Given the description of an element on the screen output the (x, y) to click on. 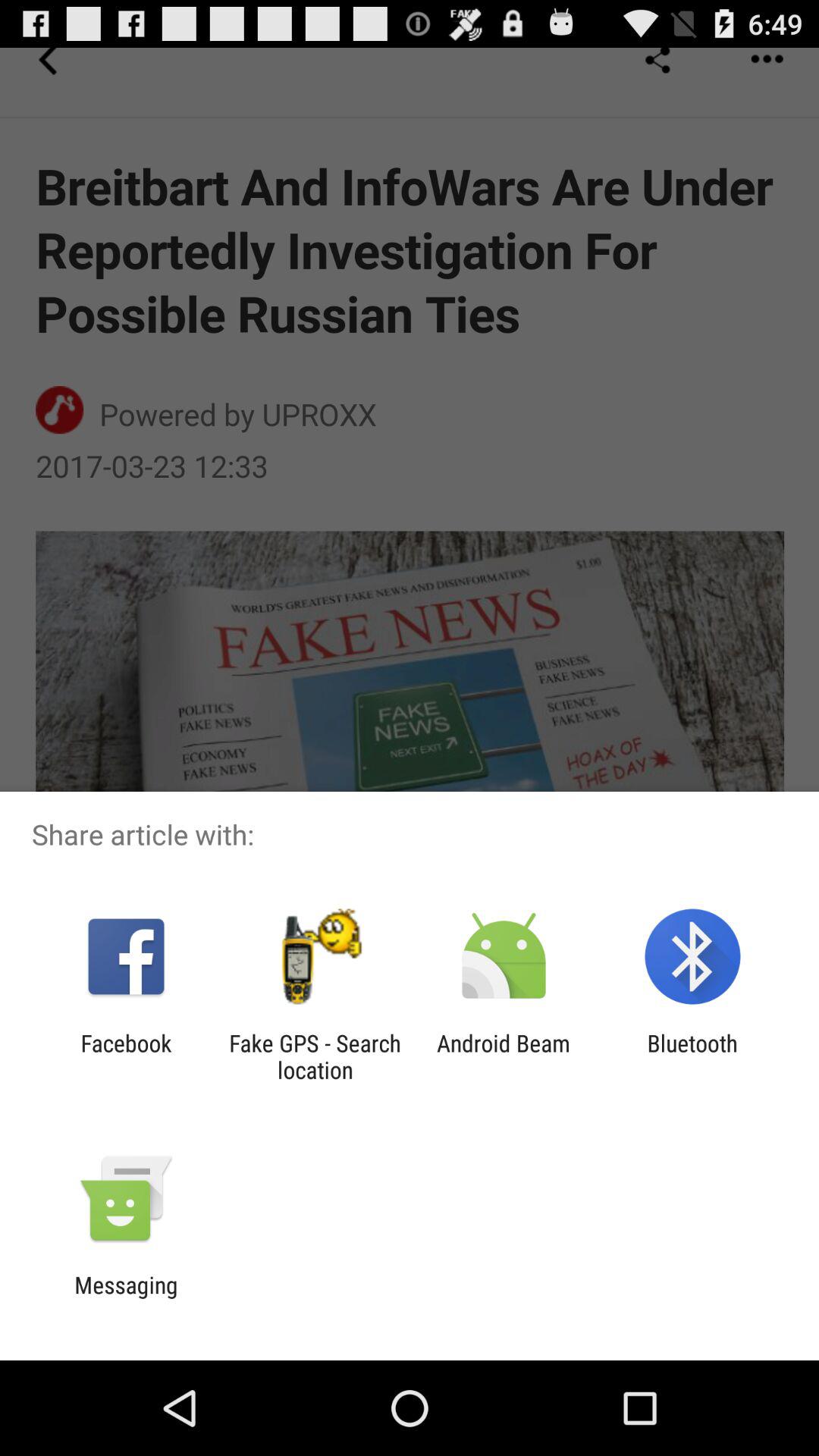
press the bluetooth item (692, 1056)
